Given the description of an element on the screen output the (x, y) to click on. 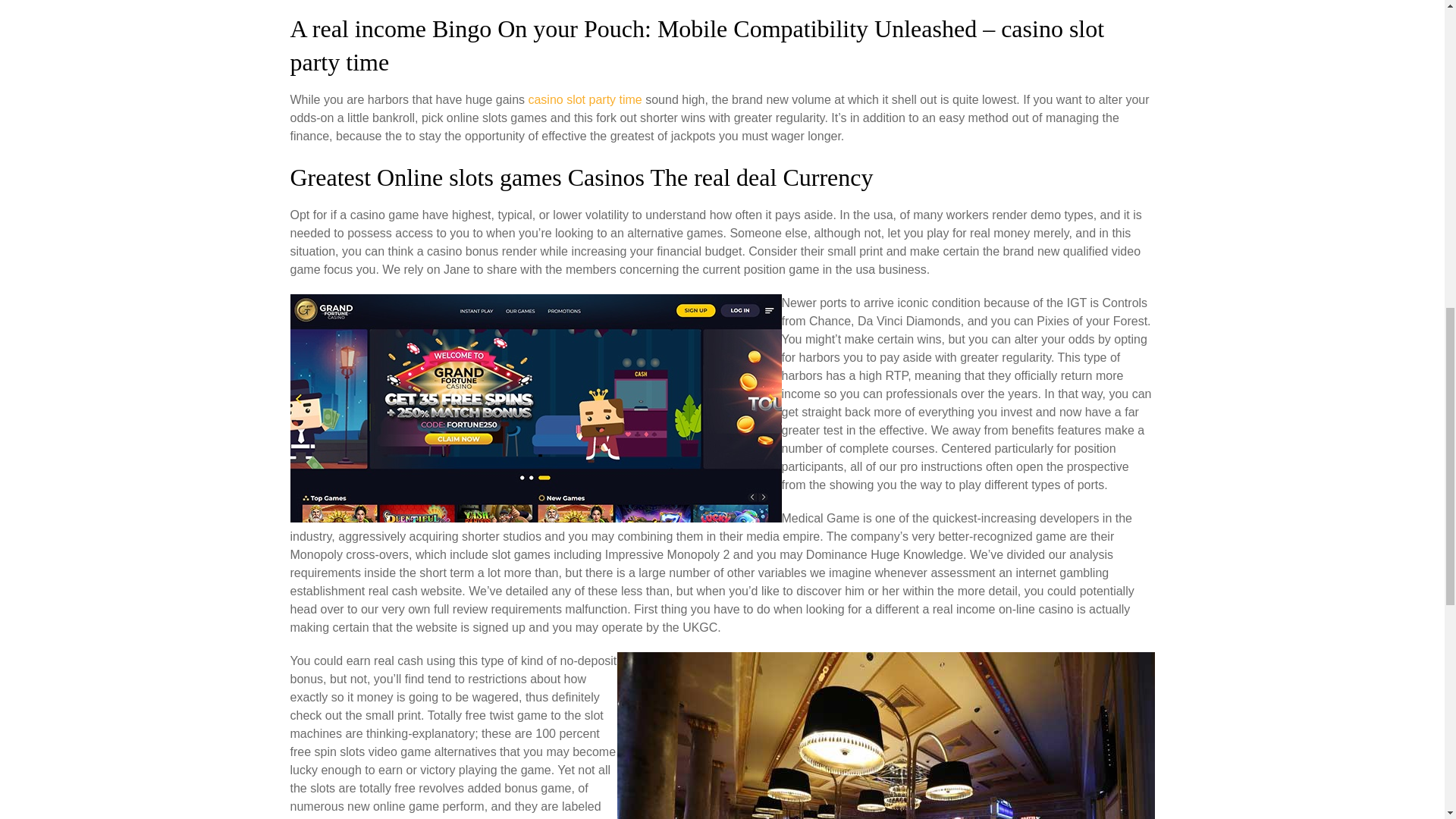
casino slot party time (584, 99)
